Given the description of an element on the screen output the (x, y) to click on. 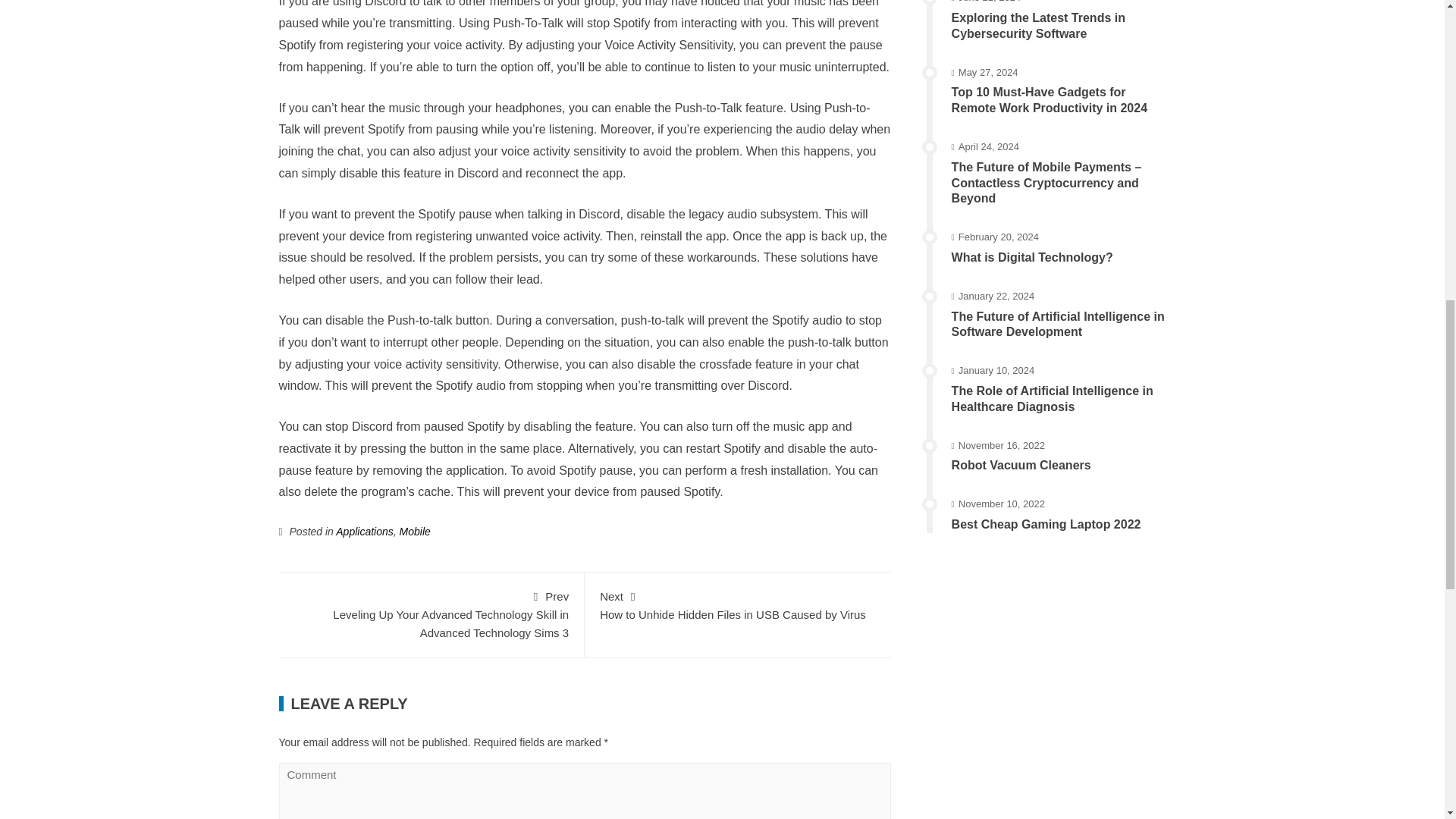
Mobile (414, 531)
Applications (737, 604)
